Given the description of an element on the screen output the (x, y) to click on. 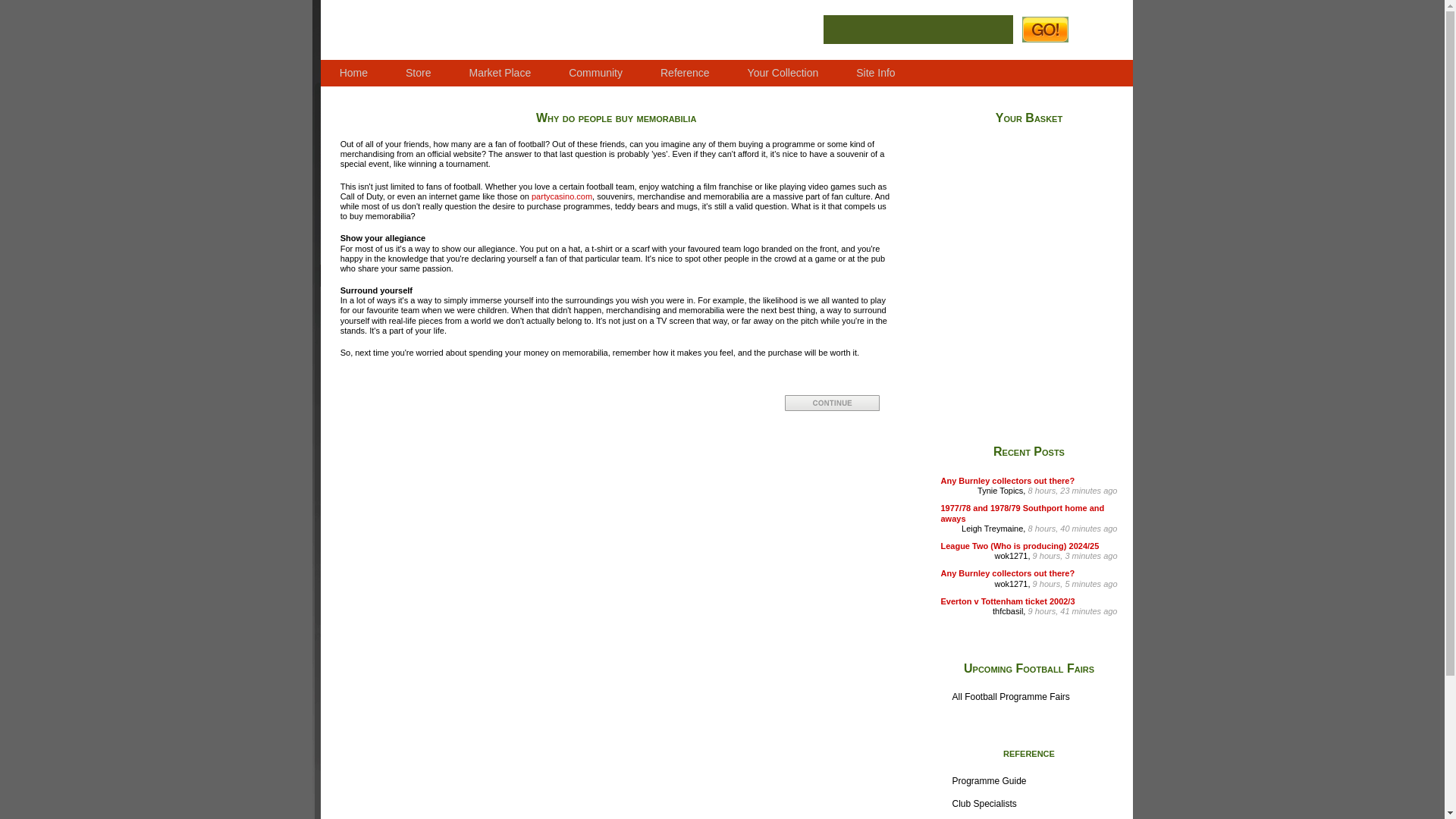
Any Burnley collectors out there? (1007, 480)
Market Place (499, 71)
Store (418, 71)
Your Collection (783, 71)
Community (596, 71)
Reference (685, 71)
partycasino.com (561, 195)
Site Info (875, 71)
 Continue  (831, 402)
Home (353, 71)
